Given the description of an element on the screen output the (x, y) to click on. 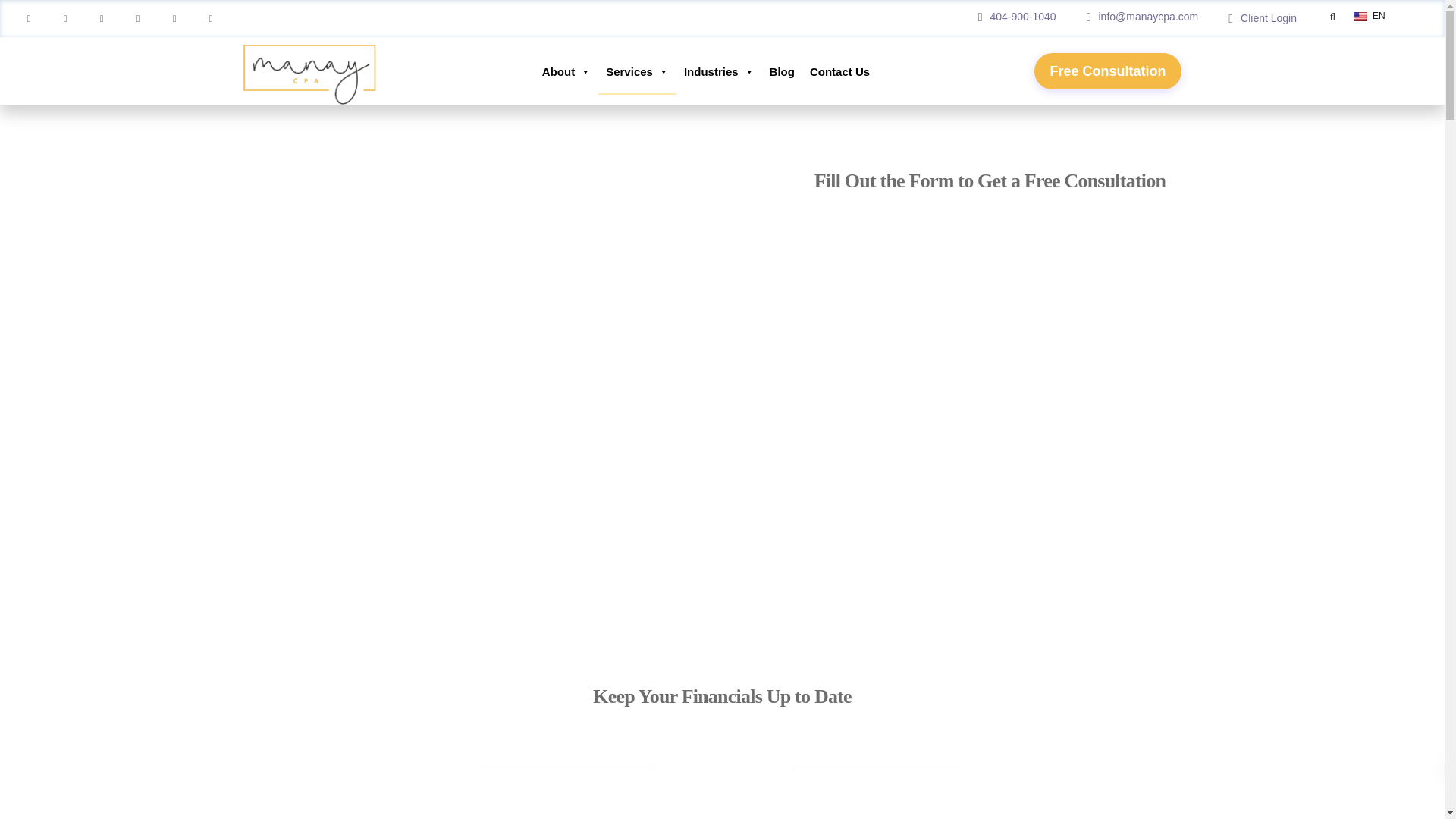
Services (637, 72)
EN (1377, 16)
404-900-1040 (1026, 16)
About (566, 72)
